Given the description of an element on the screen output the (x, y) to click on. 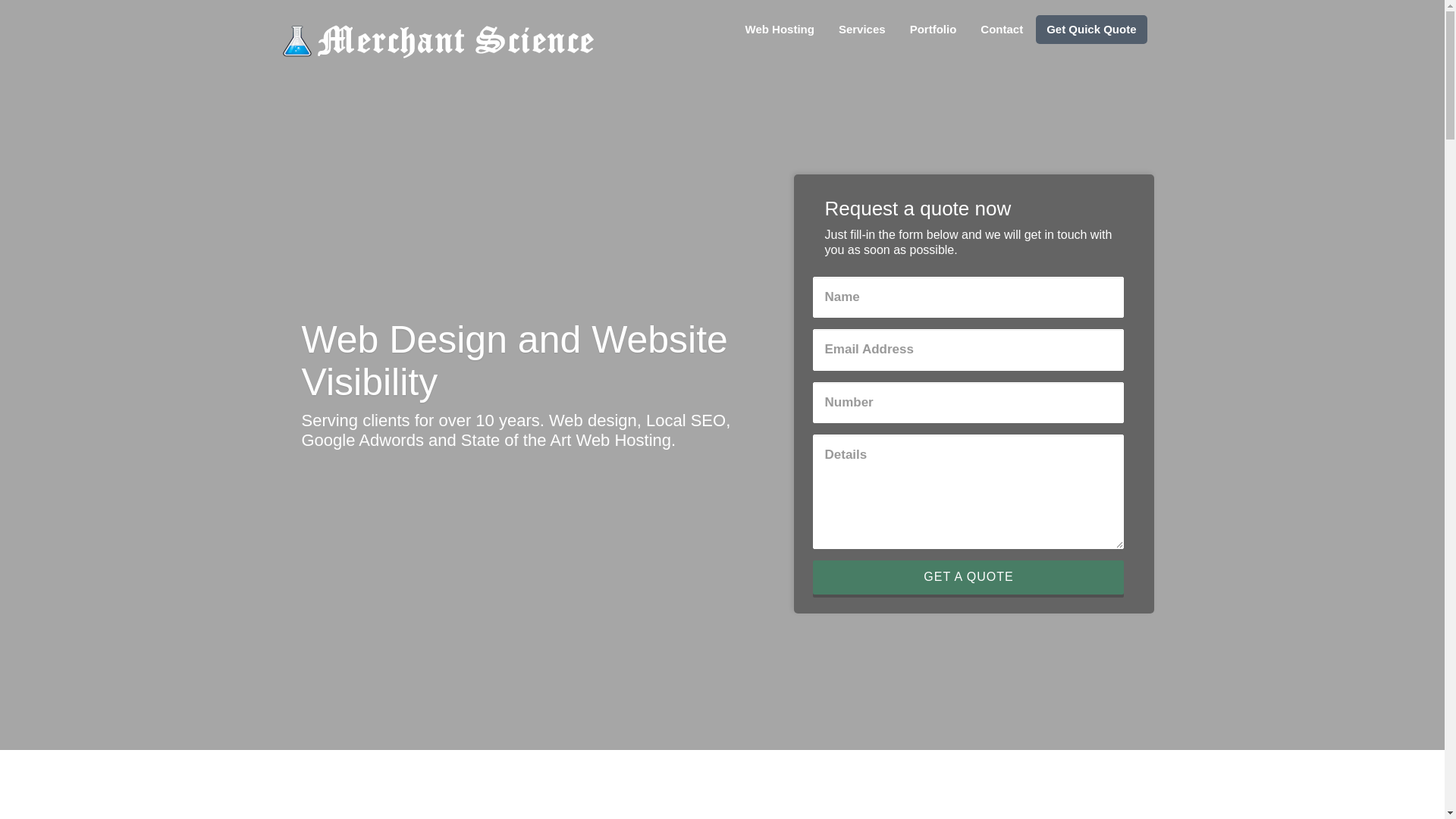
Contact (1001, 29)
Get a Quote (968, 577)
Portfolio (933, 29)
Services (861, 29)
Services (861, 29)
Web Hosting (779, 29)
Contact (1001, 29)
Get Quick Quote (1091, 29)
Get a Quote (968, 577)
Web Hosting (779, 29)
Portfolio (933, 29)
